Given the description of an element on the screen output the (x, y) to click on. 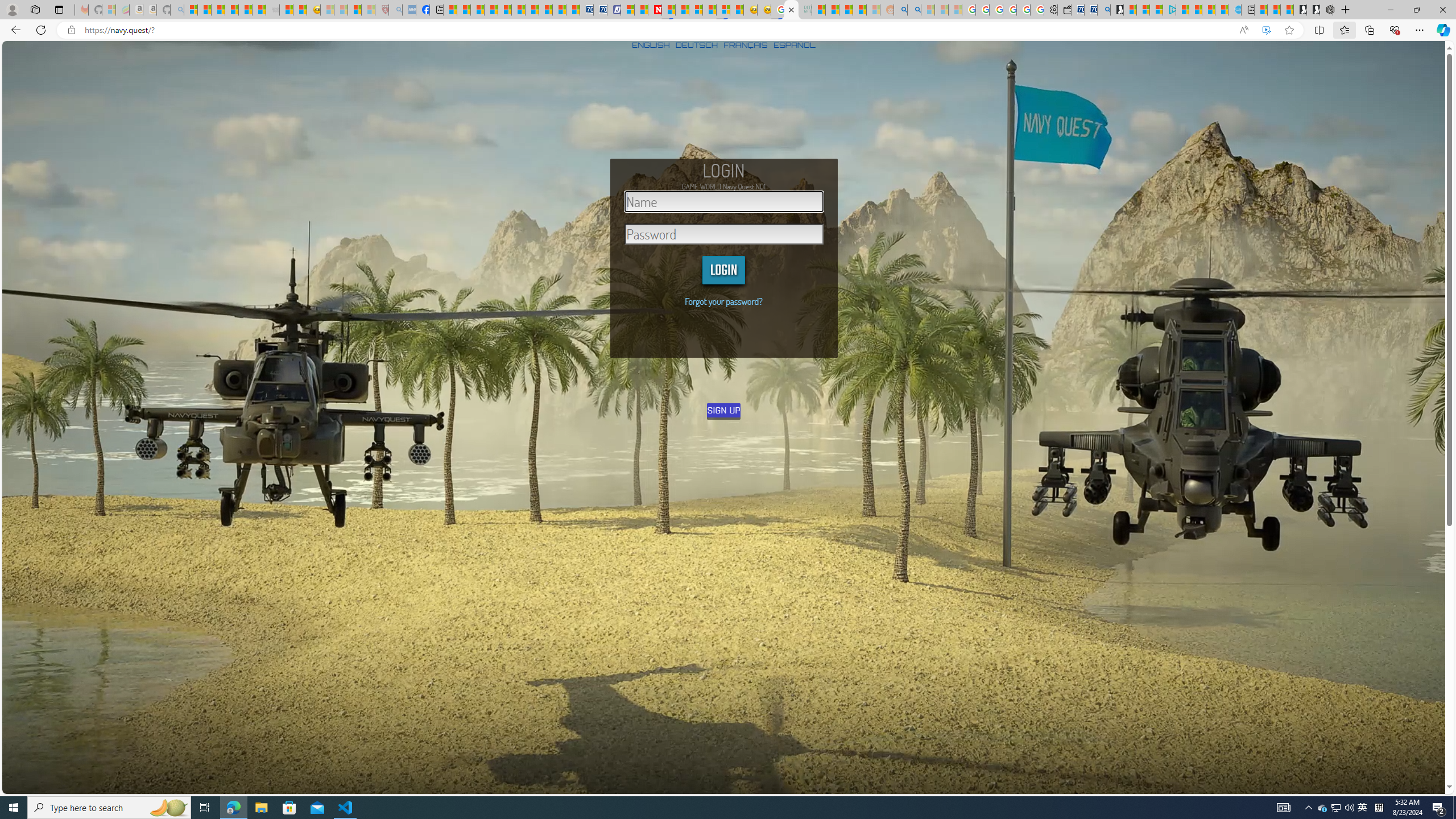
12 Popular Science Lies that Must be Corrected - Sleeping (368, 9)
DITOGAMES AG Imprint - Sleeping (804, 9)
Enhance video (1266, 29)
